Given the description of an element on the screen output the (x, y) to click on. 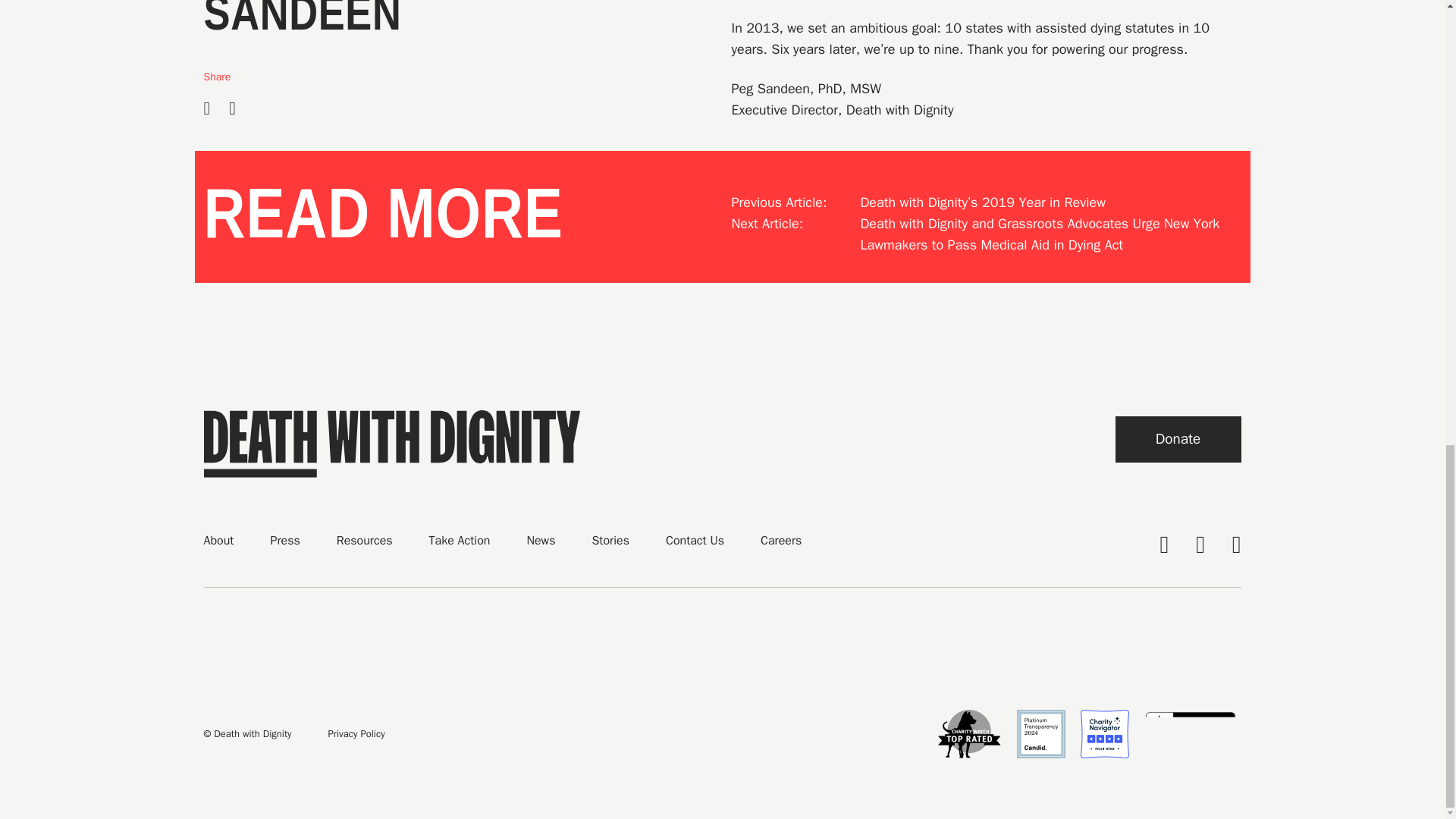
facebook (1163, 544)
twitter (1200, 544)
Donate (1177, 439)
title (1177, 439)
instagram (1236, 544)
